Given the description of an element on the screen output the (x, y) to click on. 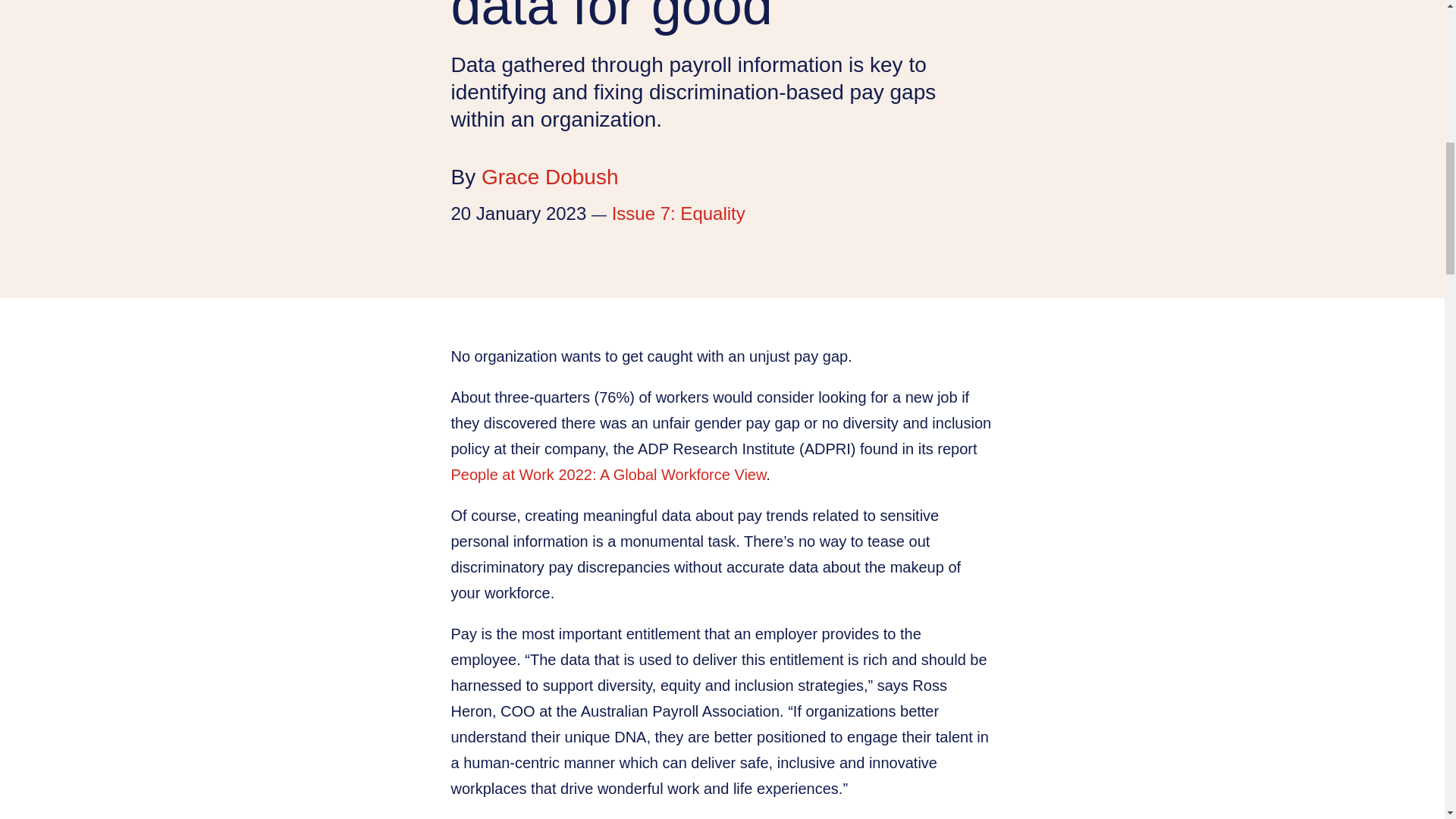
Grace Dobush (549, 177)
Issue 7: Equality (678, 213)
People at Work 2022: A Global Workforce View (607, 474)
